Given the description of an element on the screen output the (x, y) to click on. 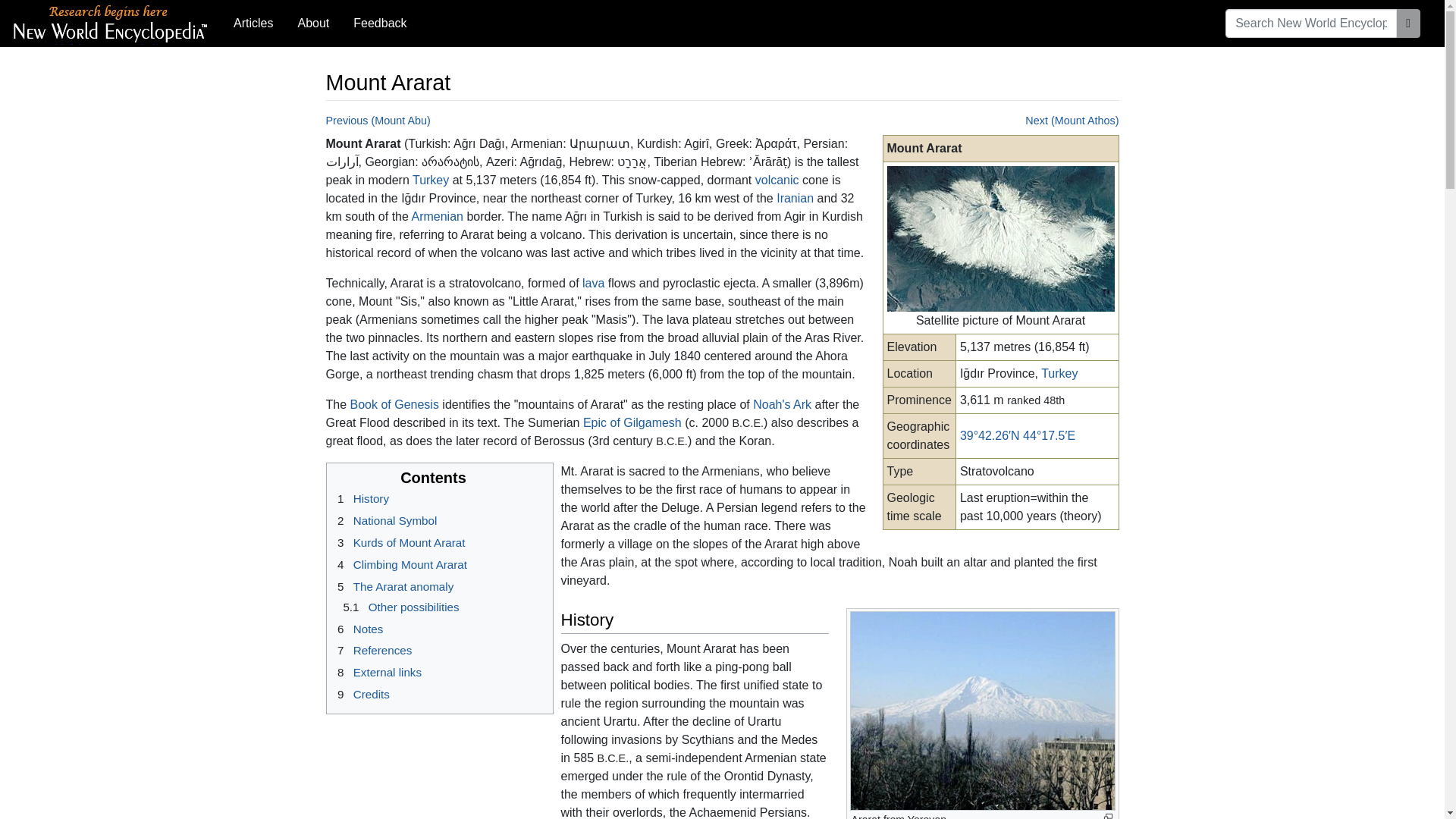
lava (593, 282)
Epic of Gilgamesh (632, 422)
Feedback (379, 23)
Book of Genesis (394, 404)
Armenia (436, 215)
2 National Symbol (384, 520)
Book of Genesis (394, 404)
volcanic (777, 179)
Mount Athos (1071, 120)
8 External links (376, 671)
4 Climbing Mount Ararat (399, 563)
7 References (371, 649)
6 Notes (357, 628)
Volcano (777, 179)
Iran (794, 197)
